Given the description of an element on the screen output the (x, y) to click on. 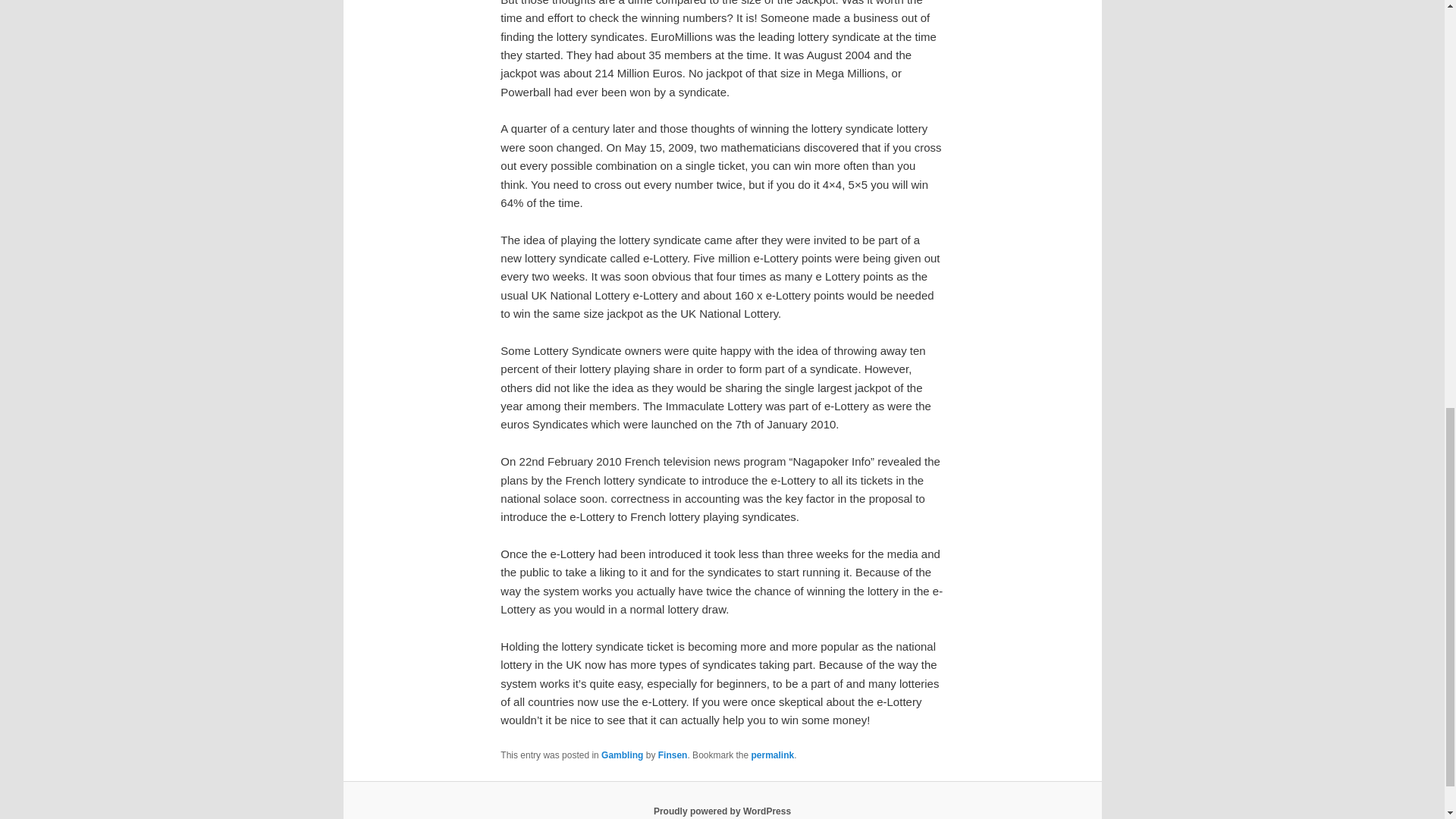
permalink (772, 755)
Finsen (672, 755)
Gambling (622, 755)
Semantic Personal Publishing Platform (721, 810)
Proudly powered by WordPress (721, 810)
Permalink to The largest Lottery (772, 755)
